Given the description of an element on the screen output the (x, y) to click on. 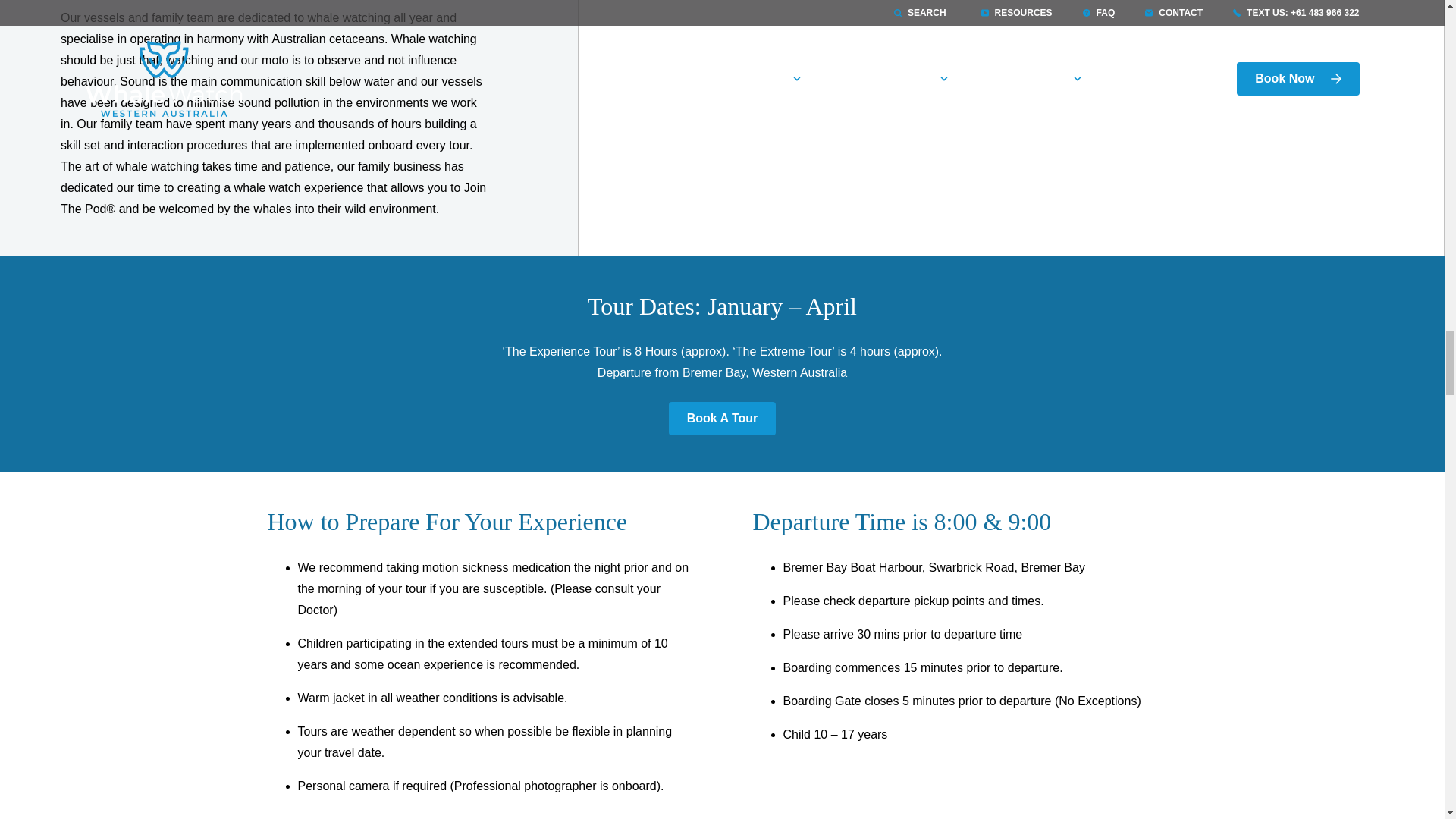
Book A Tour (722, 418)
